Given the description of an element on the screen output the (x, y) to click on. 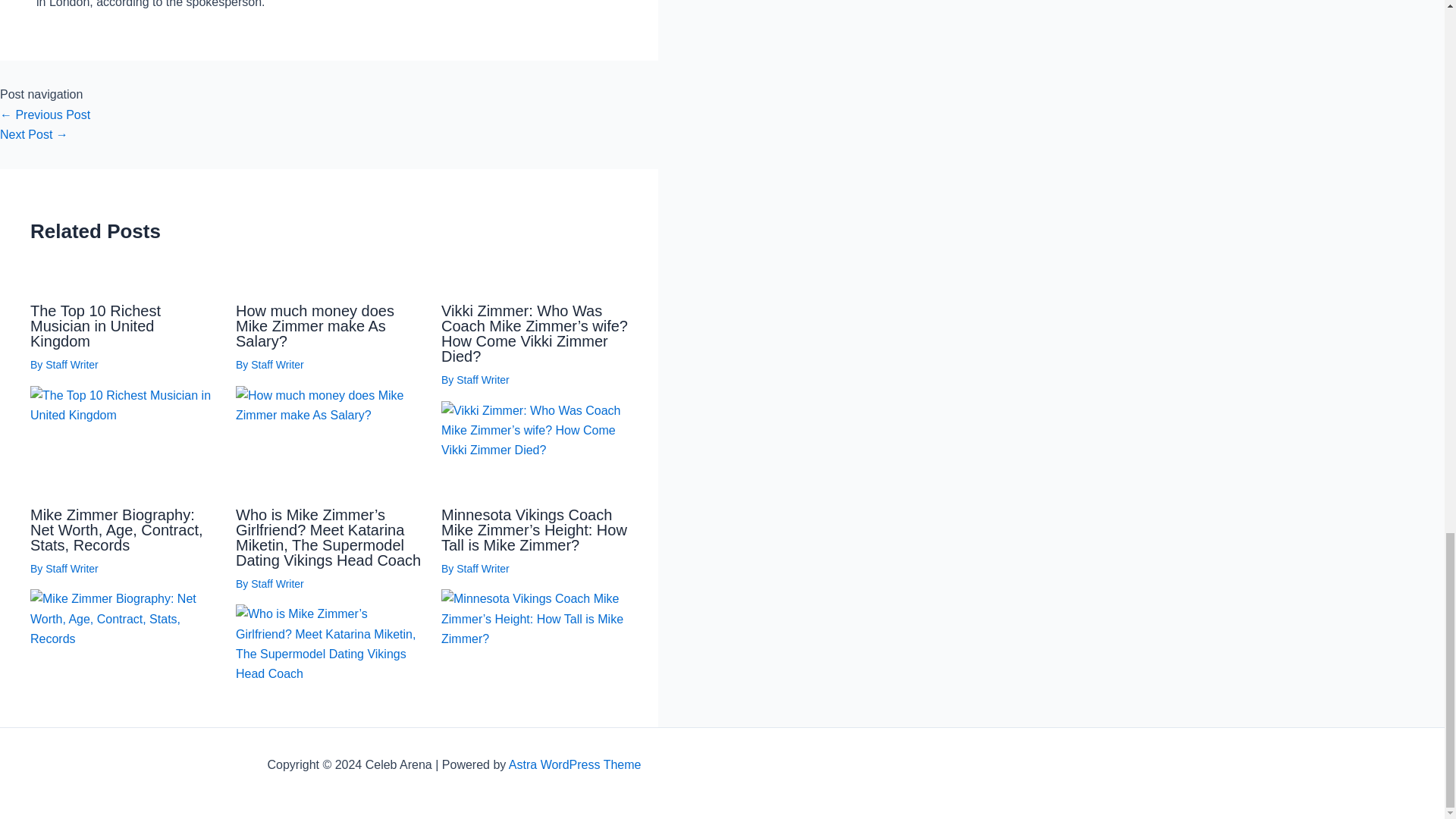
Boris Johnson Wife: Boris Johnson's Wife Carrie Johnson? (34, 133)
View all posts by Staff Writer (483, 379)
View all posts by Staff Writer (72, 568)
View all posts by Staff Writer (277, 583)
View all posts by Staff Writer (277, 364)
View all posts by Staff Writer (72, 364)
View all posts by Staff Writer (483, 568)
